Given the description of an element on the screen output the (x, y) to click on. 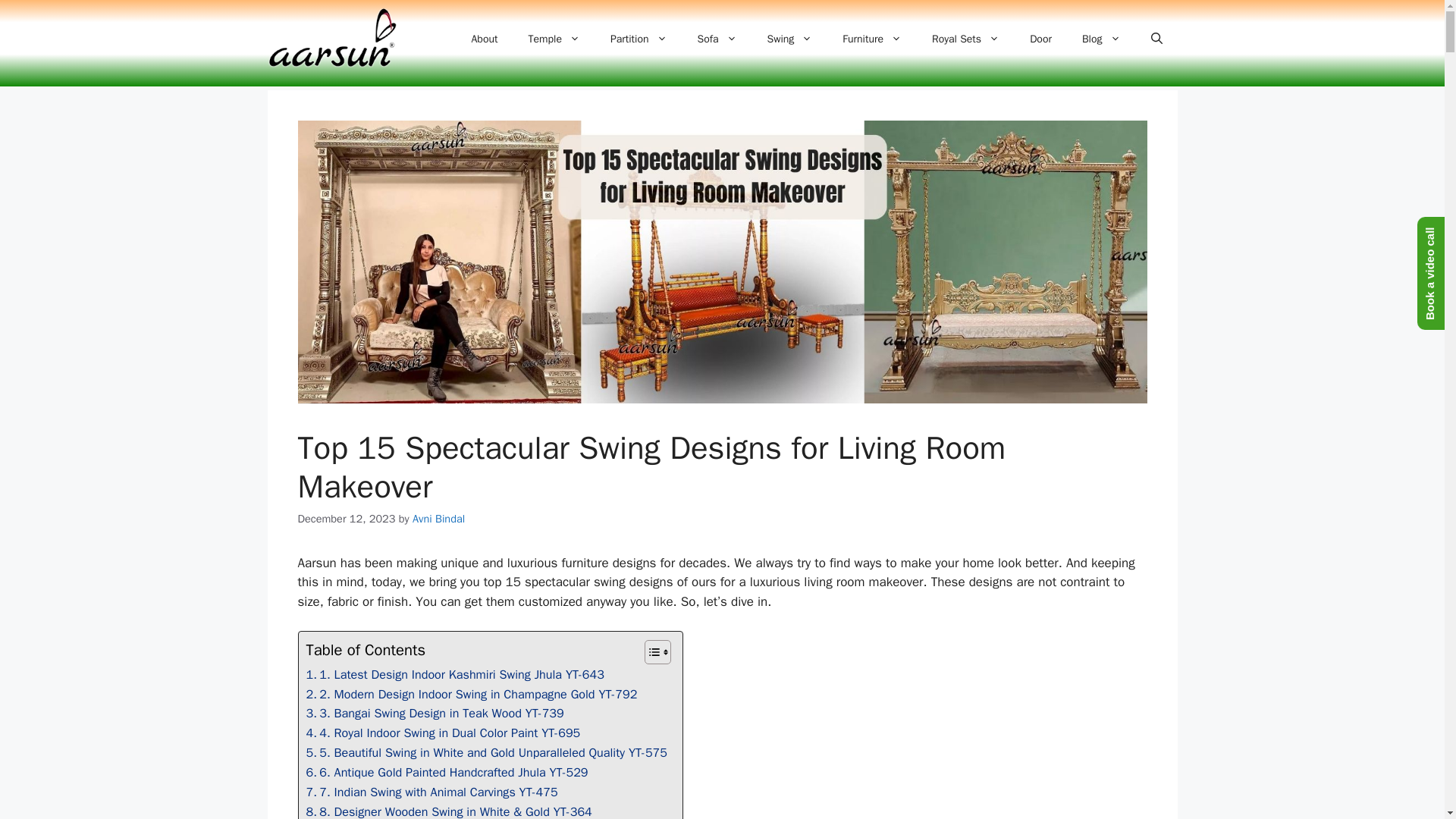
3. Bangai Swing Design in Teak Wood YT-739 (434, 713)
Swing (790, 38)
6. Antique Gold Painted Handcrafted Jhula YT-529 (446, 772)
1. Latest Design Indoor Kashmiri Swing Jhula YT-643 (454, 674)
Temple (553, 38)
4. Royal Indoor Swing in Dual Color Paint YT-695  (442, 732)
2. Modern Design Indoor Swing in Champagne Gold YT-792 (471, 694)
View all posts by Avni Bindal (438, 518)
Partition (638, 38)
